Given the description of an element on the screen output the (x, y) to click on. 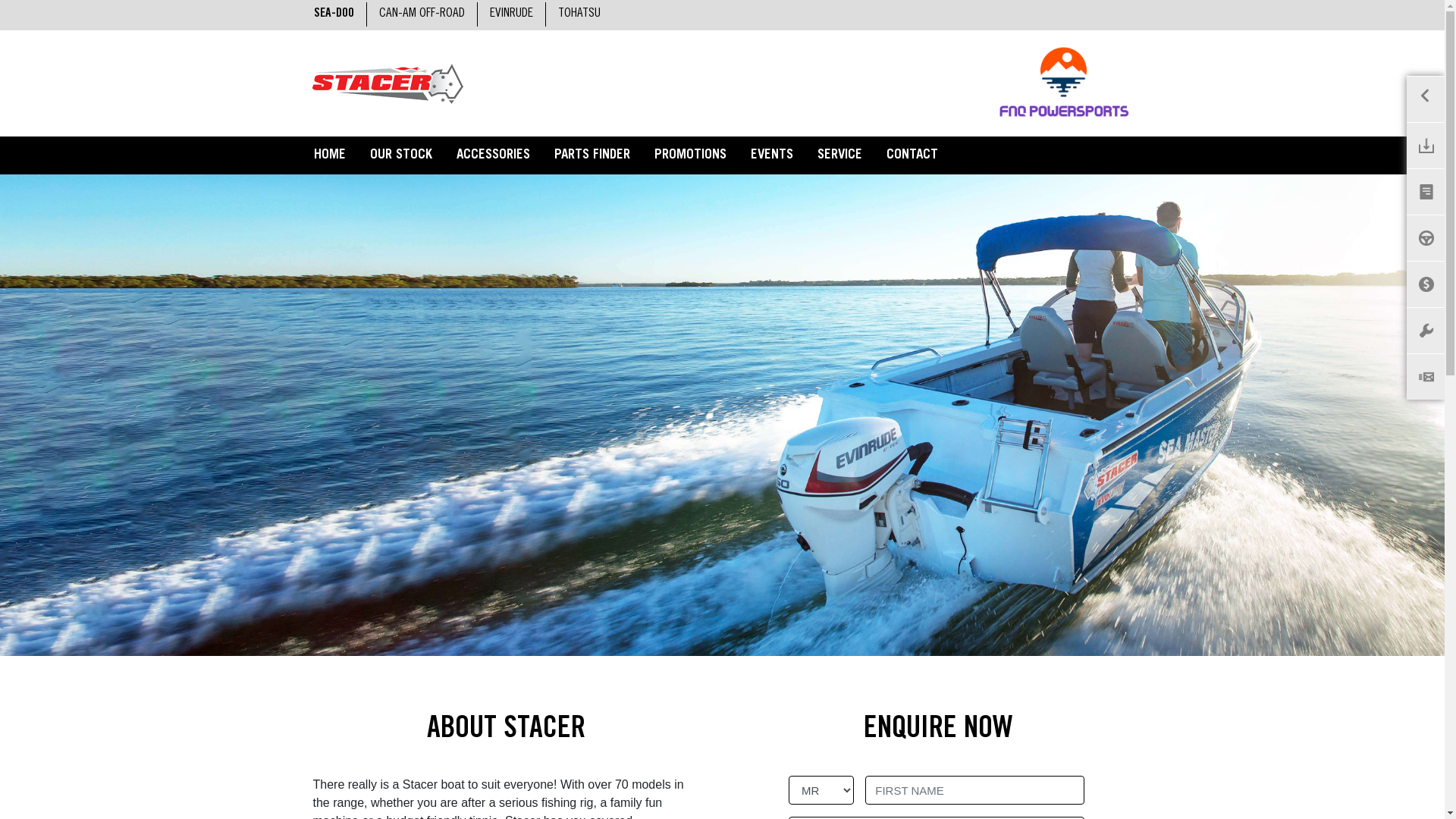
ACCESSORIES Element type: text (493, 155)
SEA-DOO Element type: text (333, 13)
PROMOTIONS Element type: text (689, 155)
TOHATSU Element type: text (579, 13)
CONTACT Element type: text (911, 155)
EVENTS Element type: text (771, 155)
HOME Element type: text (329, 155)
EVINRUDE Element type: text (511, 13)
SERVICE Element type: text (839, 155)
CAN-AM OFF-ROAD Element type: text (421, 13)
PARTS FINDER Element type: text (591, 155)
OUR STOCK Element type: text (400, 155)
